Given the description of an element on the screen output the (x, y) to click on. 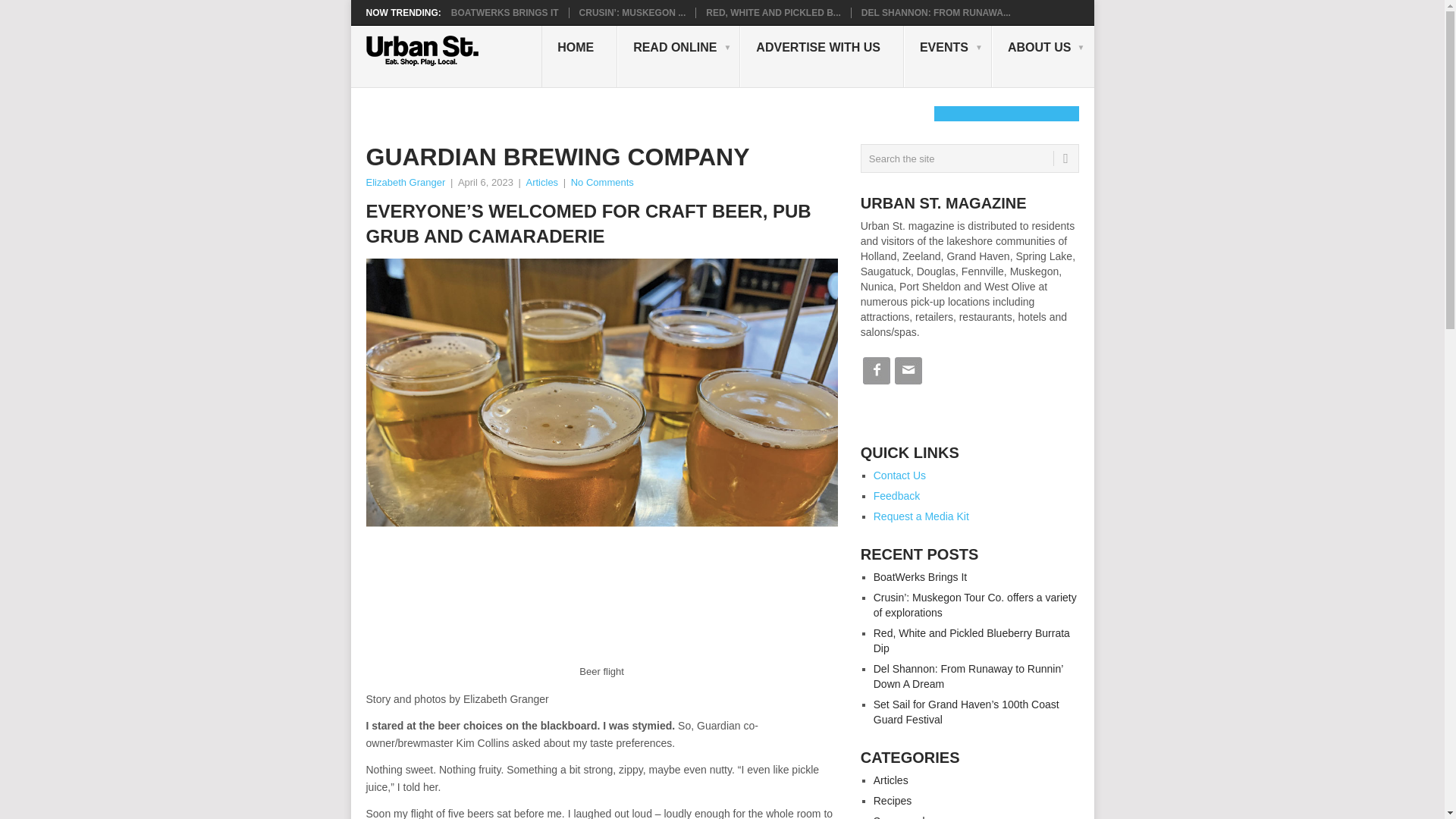
BoatWerks Brings It (505, 12)
Advertiser info (821, 56)
ADVERTISE WITH US (821, 56)
Articles (542, 182)
DEL SHANNON: FROM RUNAWA... (935, 12)
Posts by Elizabeth Granger (405, 182)
Elizabeth Granger (405, 182)
RED, WHITE AND PICKLED B... (773, 12)
READ ONLINE (678, 56)
Search the site (969, 158)
Contact Us (899, 475)
No Comments (601, 182)
Visit us on Facebook (876, 382)
EVENTS (947, 56)
Group Tour Media (1042, 56)
